Given the description of an element on the screen output the (x, y) to click on. 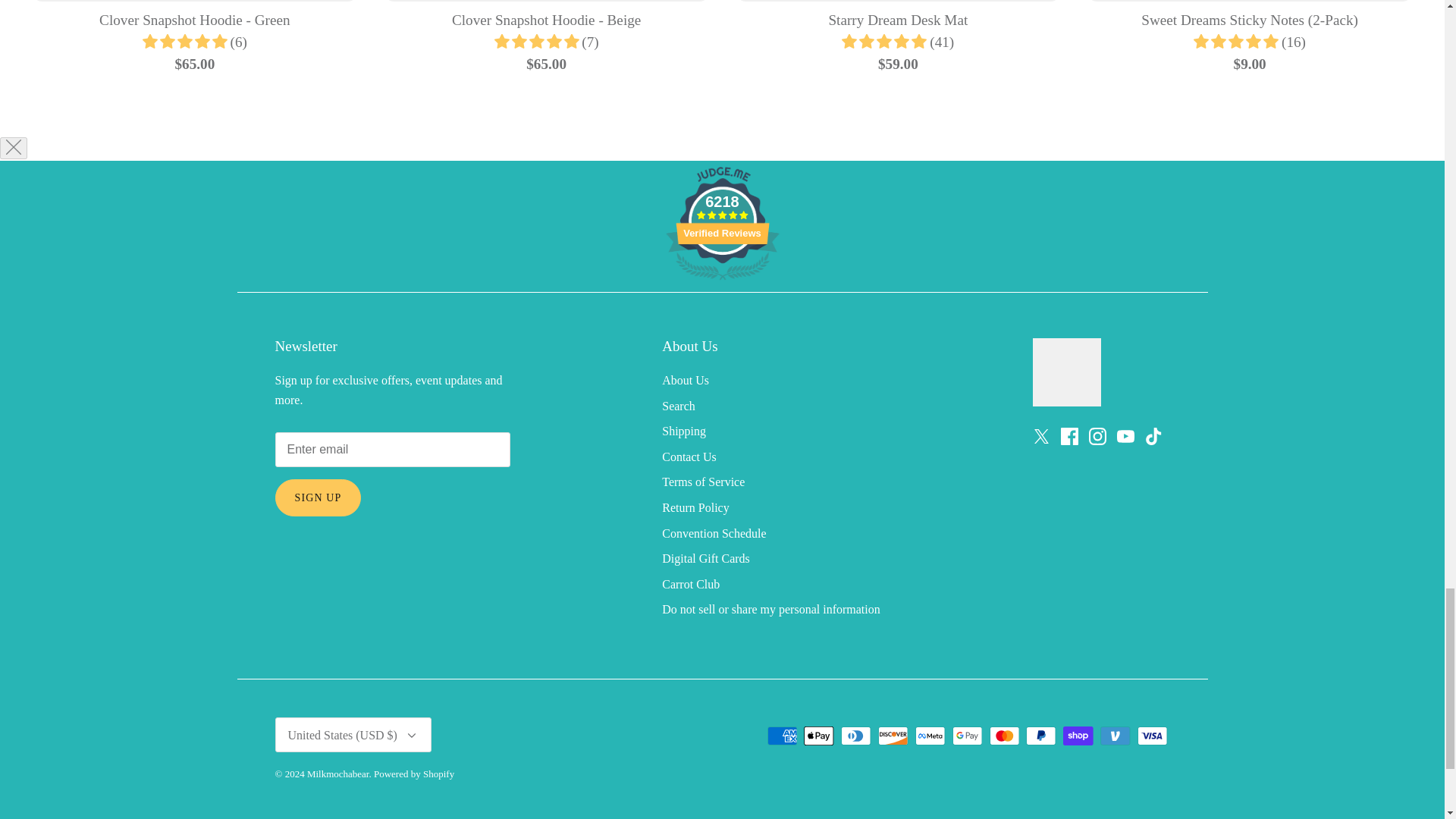
Diners Club (855, 735)
X (1040, 436)
American Express (782, 735)
Discover (892, 735)
Apple Pay (818, 735)
Facebook (1068, 436)
Youtube (1125, 436)
Meta Pay (929, 735)
Instagram (1097, 436)
